Given the description of an element on the screen output the (x, y) to click on. 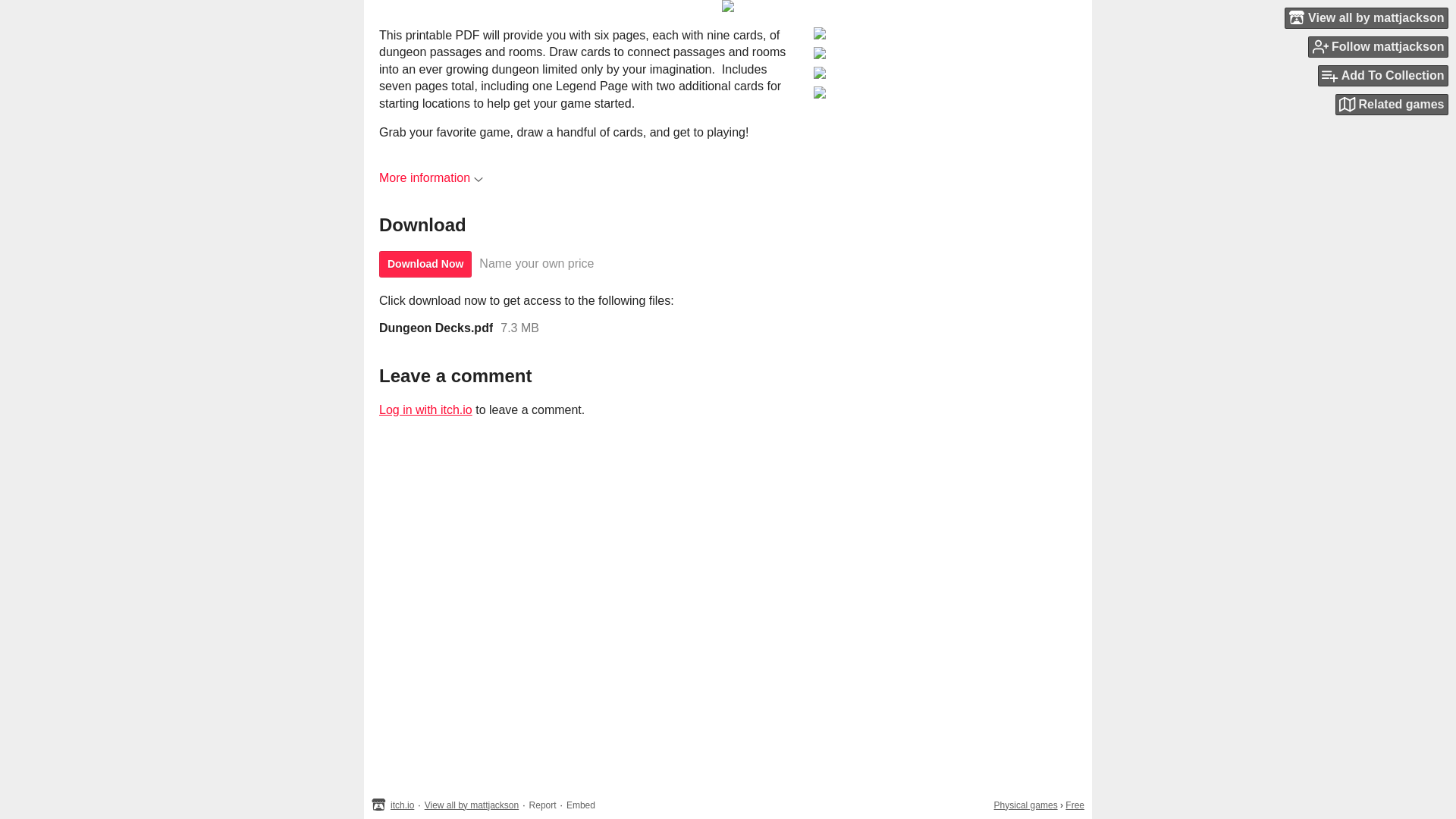
Dungeon Decks.pdf (435, 327)
Follow mattjackson (1377, 46)
Report (542, 804)
View all by mattjackson (1366, 17)
View all by mattjackson (472, 804)
Related games (1391, 104)
Embed (580, 804)
Add To Collection (1382, 75)
Download Now (424, 263)
itch.io (401, 804)
